Given the description of an element on the screen output the (x, y) to click on. 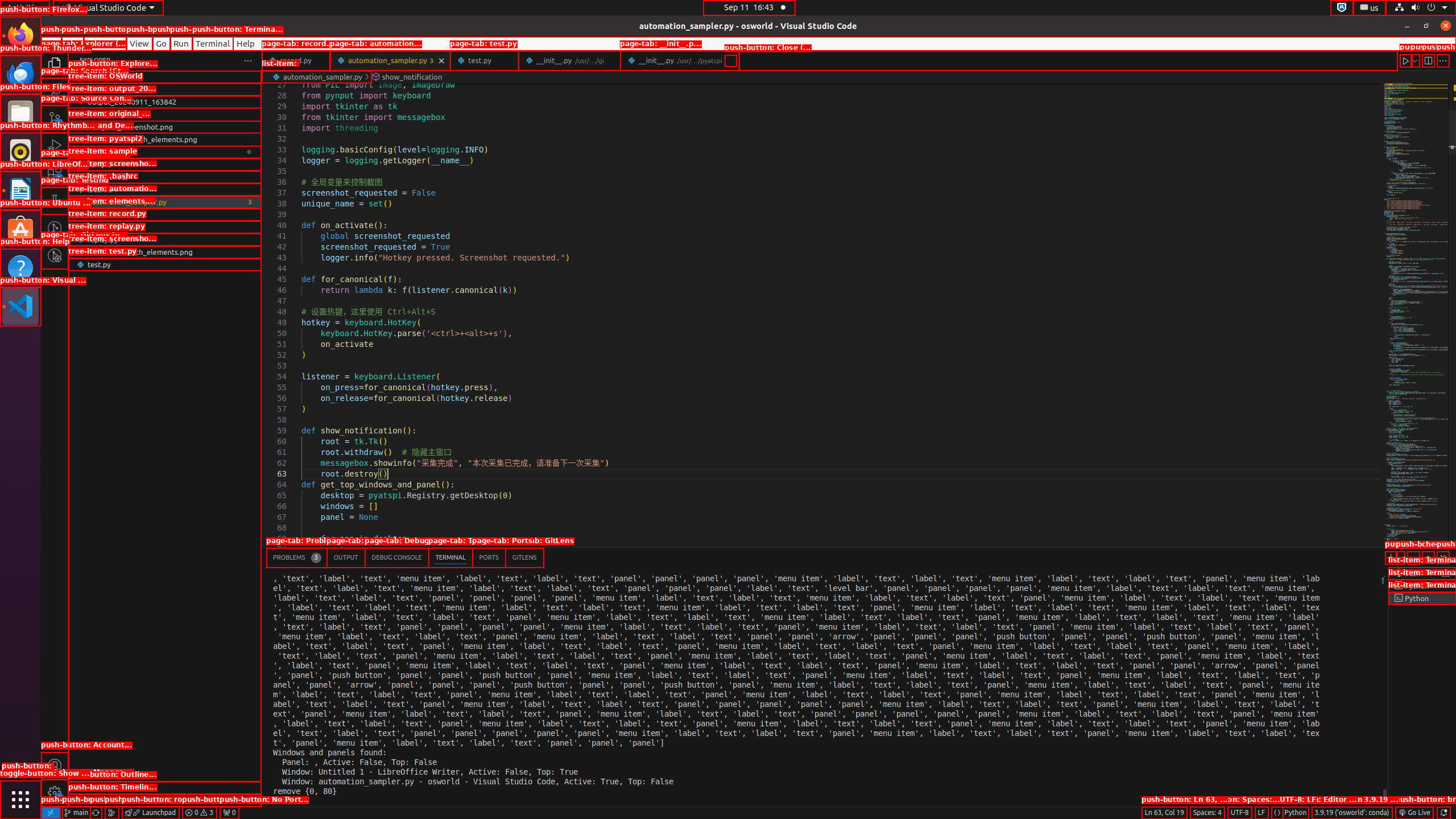
Run or Debug... Element type: push-button (1414, 60)
